Given the description of an element on the screen output the (x, y) to click on. 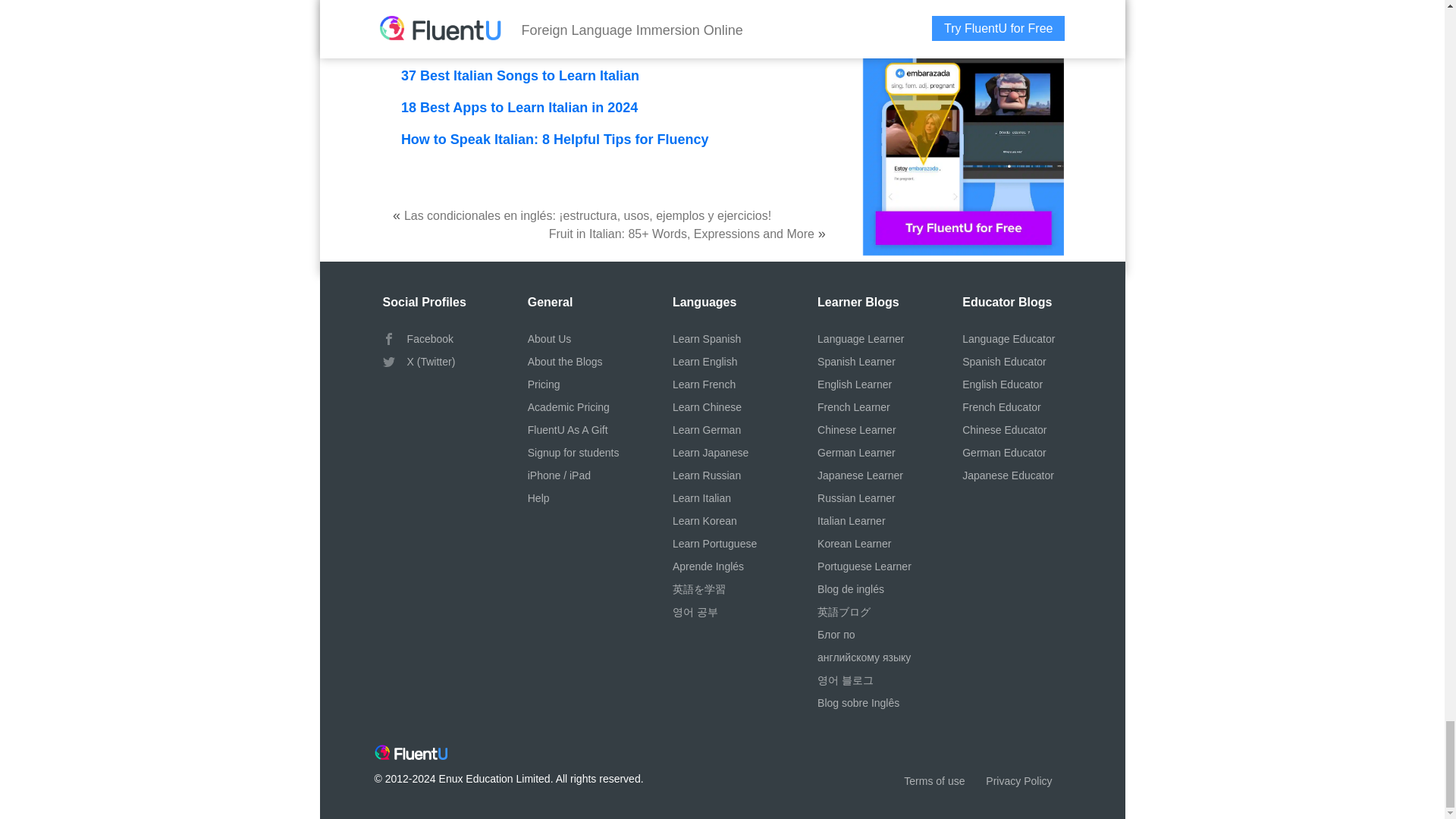
37 Best Italian Songs to Learn Italian (520, 75)
How to Speak Italian: 8 Helpful Tips for Fluency (555, 139)
18 Best Apps to Learn Italian in 2024 (519, 107)
